Given the description of an element on the screen output the (x, y) to click on. 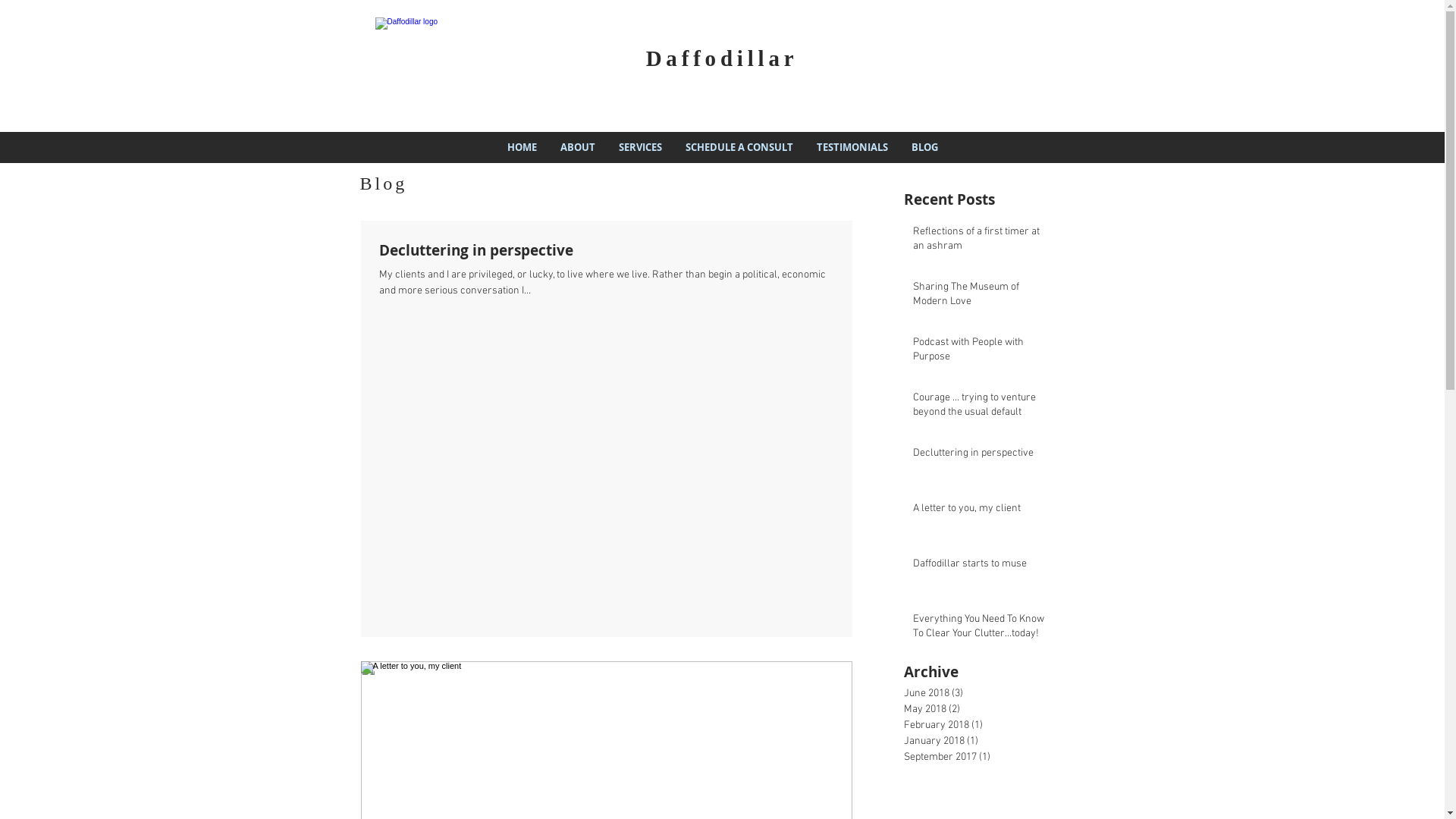
Podcast with People with Purpose Element type: text (982, 352)
September 2017 (1) Element type: text (983, 757)
SCHEDULE A CONSULT Element type: text (738, 147)
January 2018 (1) Element type: text (983, 741)
Decluttering in perspective Element type: text (982, 456)
A letter to you, my client Element type: text (982, 511)
Courage ... trying to venture beyond the usual default Element type: text (982, 408)
ABOUT Element type: text (577, 147)
Decluttering in perspective Element type: text (606, 250)
June 2018 (3) Element type: text (983, 693)
HOME Element type: text (521, 147)
Daffodillar starts to muse Element type: text (982, 566)
TESTIMONIALS Element type: text (851, 147)
May 2018 (2) Element type: text (983, 709)
Everything You Need To Know To Clear Your Clutter...today! Element type: text (982, 629)
BLOG Element type: text (924, 147)
Reflections of a first timer at an ashram Element type: text (982, 242)
Sharing The Museum of Modern Love Element type: text (982, 297)
February 2018 (1) Element type: text (983, 725)
SERVICES Element type: text (639, 147)
Daffodillar Element type: text (722, 57)
